Given the description of an element on the screen output the (x, y) to click on. 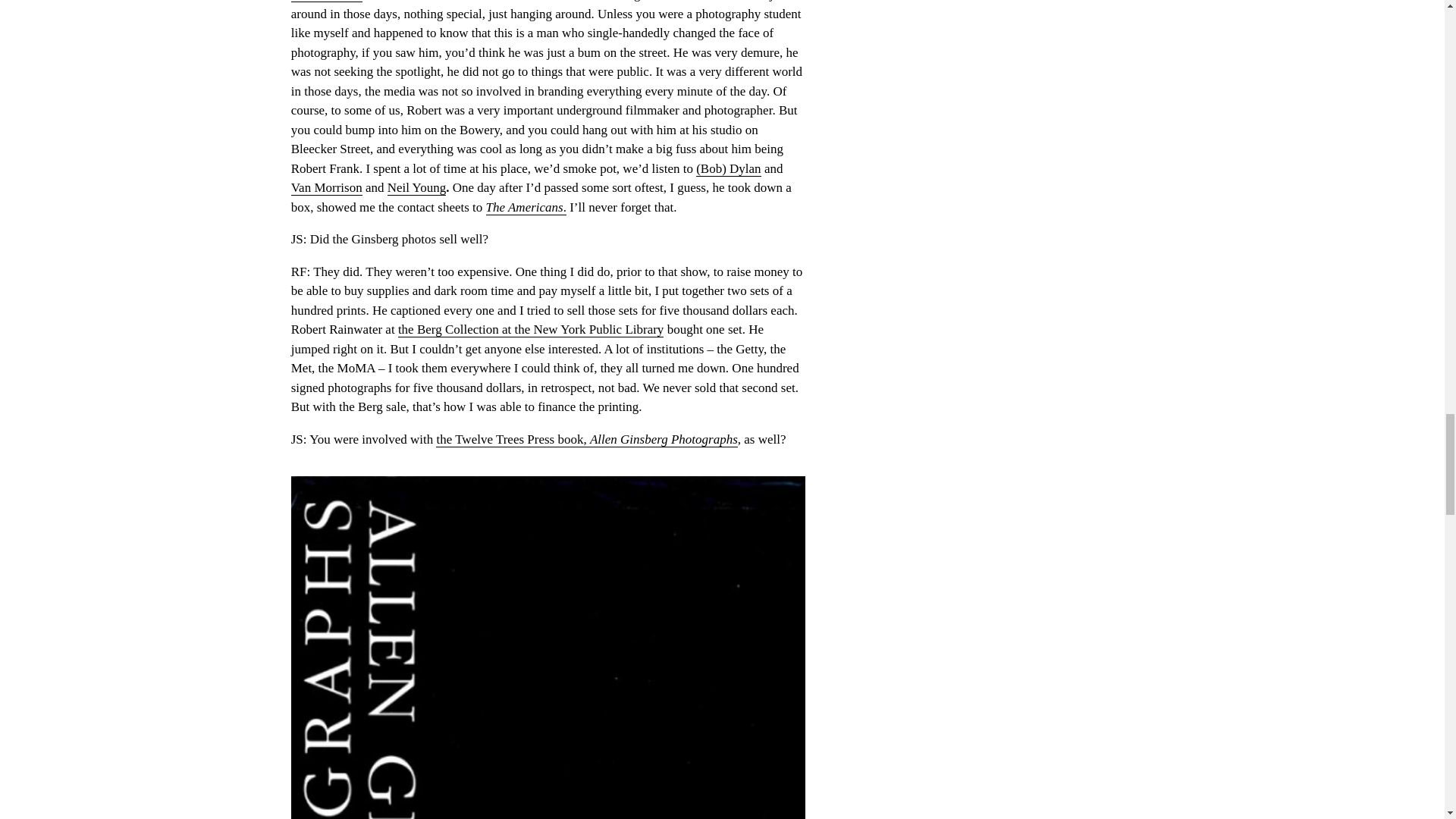
The Americans. (526, 207)
Van Morrison (326, 187)
the Twelve Trees Press book, Allen Ginsberg Photographs (585, 439)
Robert Frank, (326, 1)
Neil Young (416, 187)
the Berg Collection at the New York Public Library (530, 329)
